Given the description of an element on the screen output the (x, y) to click on. 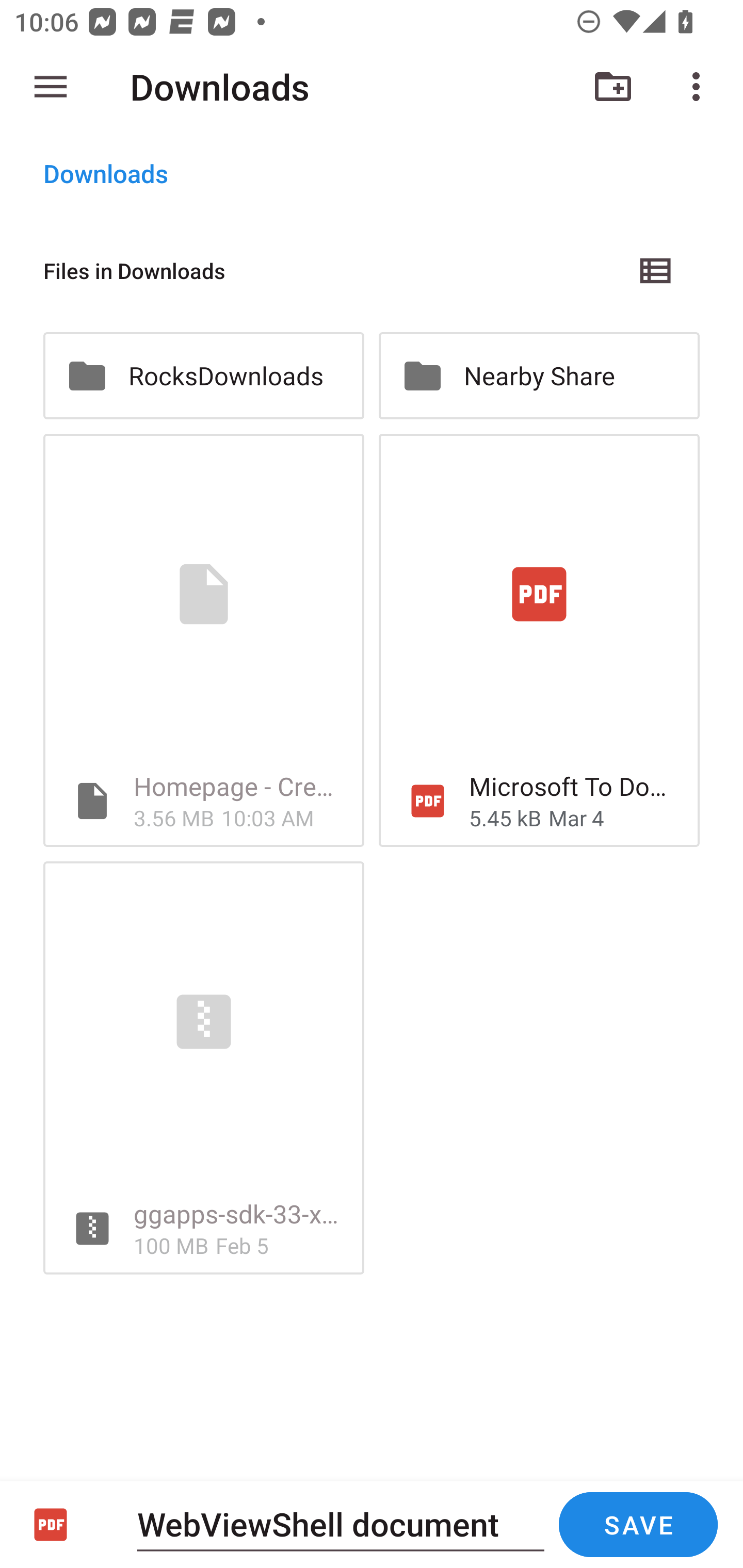
Show roots (50, 86)
New folder (612, 86)
More options (699, 86)
List view (655, 270)
RocksDownloads (203, 375)
Nearby Share (538, 375)
Homepage - Creative Commons 3.56 MB 10:03 AM (203, 640)
Microsoft To DoFlight Booking.pdf 5.45 kB Mar 4 (538, 640)
ggapps-sdk-33-x86_64-20231003.zip 100 MB Feb 5 (203, 1067)
SAVE (637, 1524)
WebViewShell document (340, 1523)
